Given the description of an element on the screen output the (x, y) to click on. 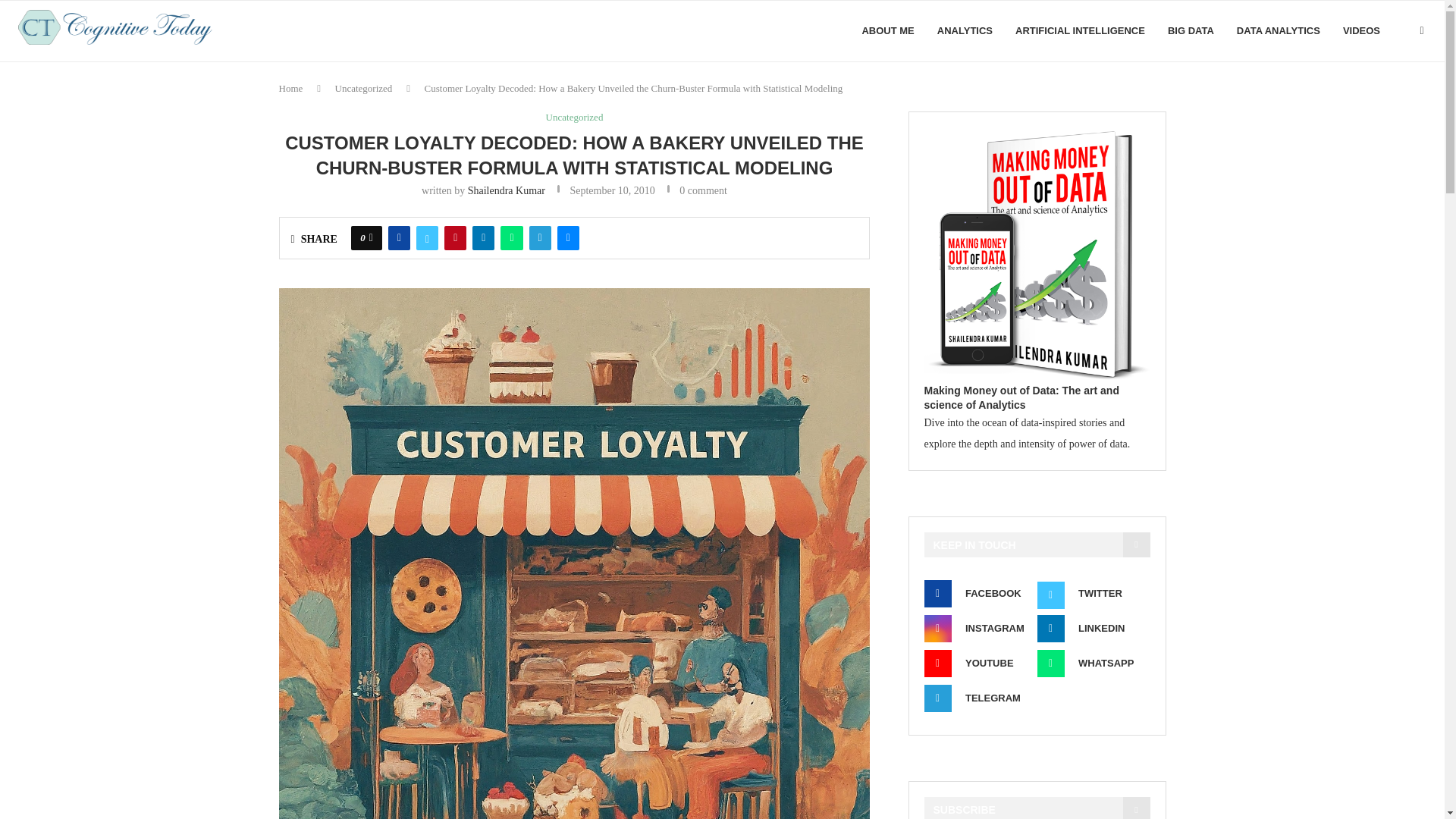
DATA ANALYTICS (1278, 30)
Uncategorized (575, 117)
ANALYTICS (964, 30)
Home (290, 88)
Shailendra Kumar (505, 190)
ARTIFICIAL INTELLIGENCE (1079, 30)
Uncategorized (363, 88)
